Given the description of an element on the screen output the (x, y) to click on. 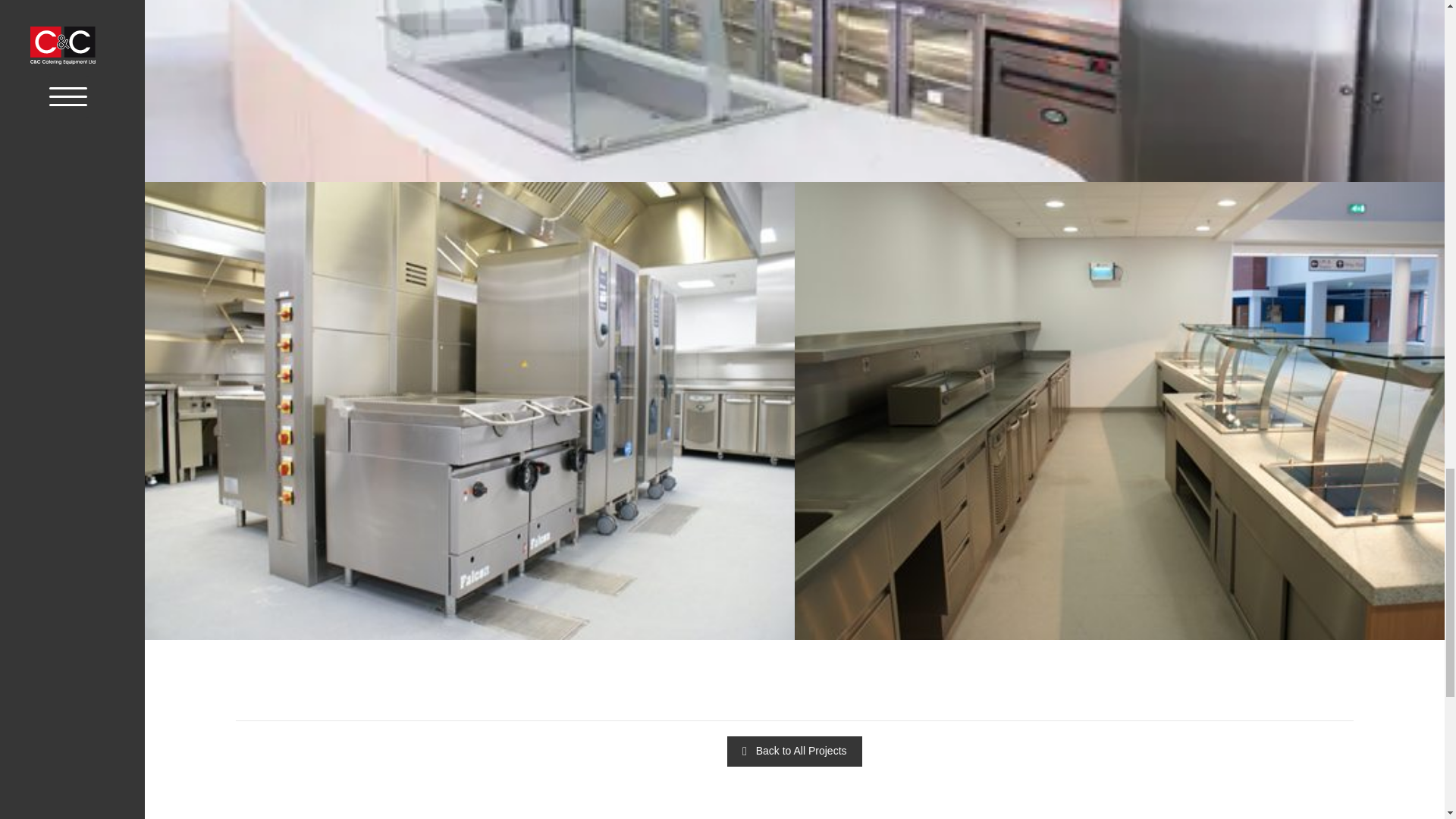
Back to All Projects (793, 751)
